Given the description of an element on the screen output the (x, y) to click on. 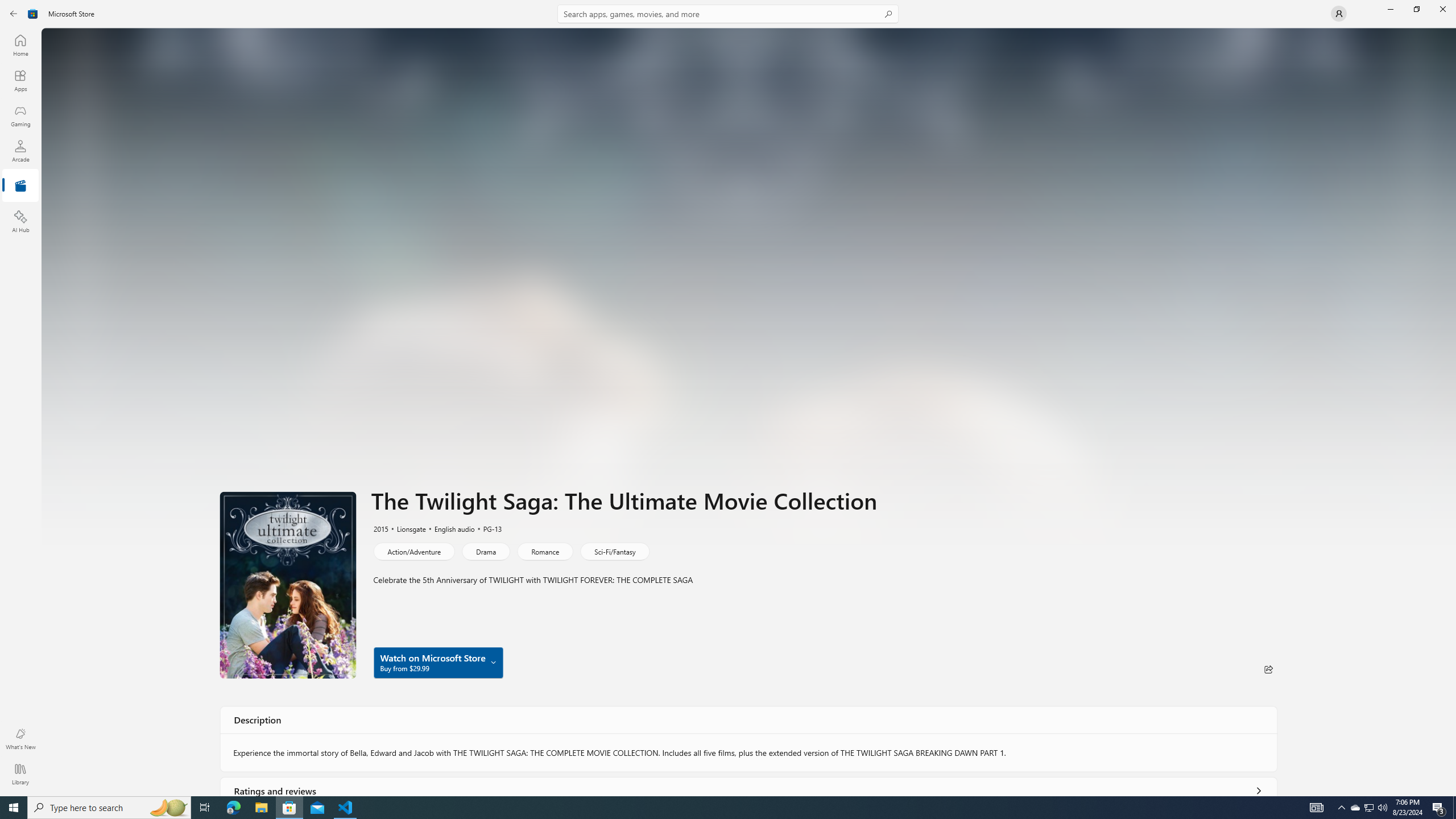
Romance (544, 551)
Action/Adventure (413, 551)
Sci-Fi/Fantasy (614, 551)
2015 (379, 528)
Lionsgate (406, 528)
Search (727, 13)
English audio (449, 528)
